Given the description of an element on the screen output the (x, y) to click on. 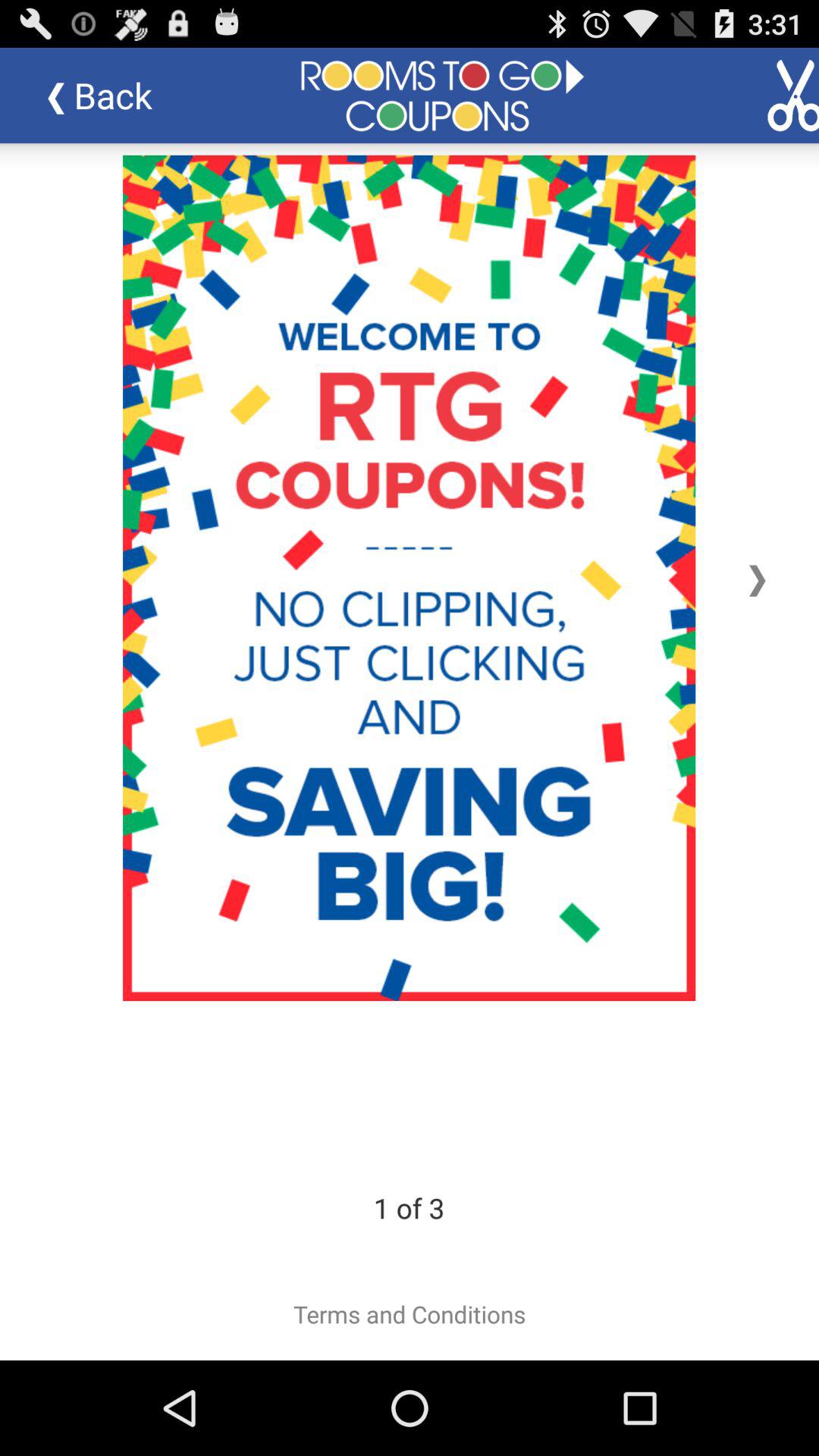
flip until terms and conditions item (409, 1313)
